Given the description of an element on the screen output the (x, y) to click on. 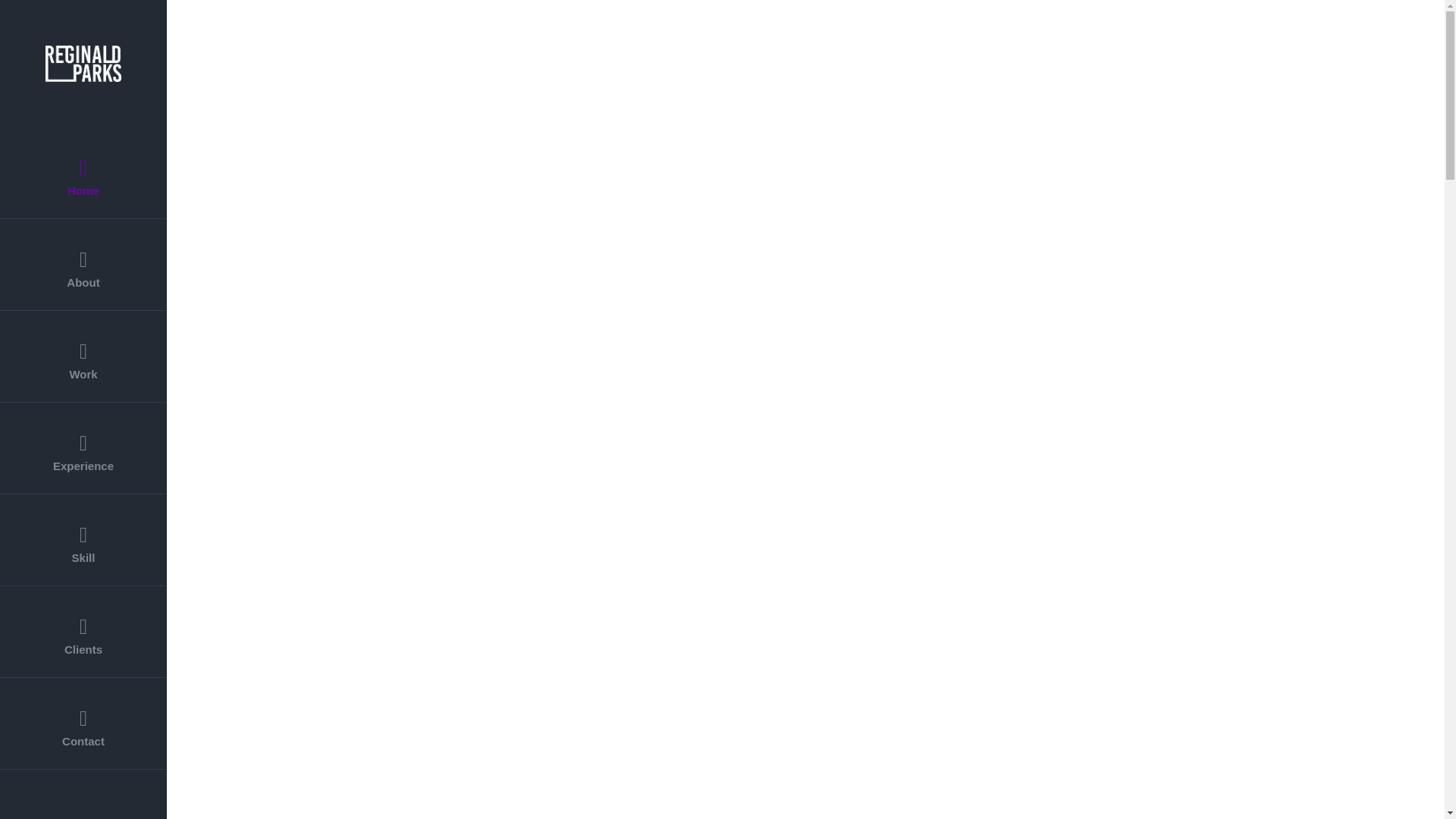
Experience (83, 448)
Home (83, 173)
Skill (83, 540)
About (83, 265)
Work (83, 356)
Clients (83, 632)
Contact (83, 723)
